Given the description of an element on the screen output the (x, y) to click on. 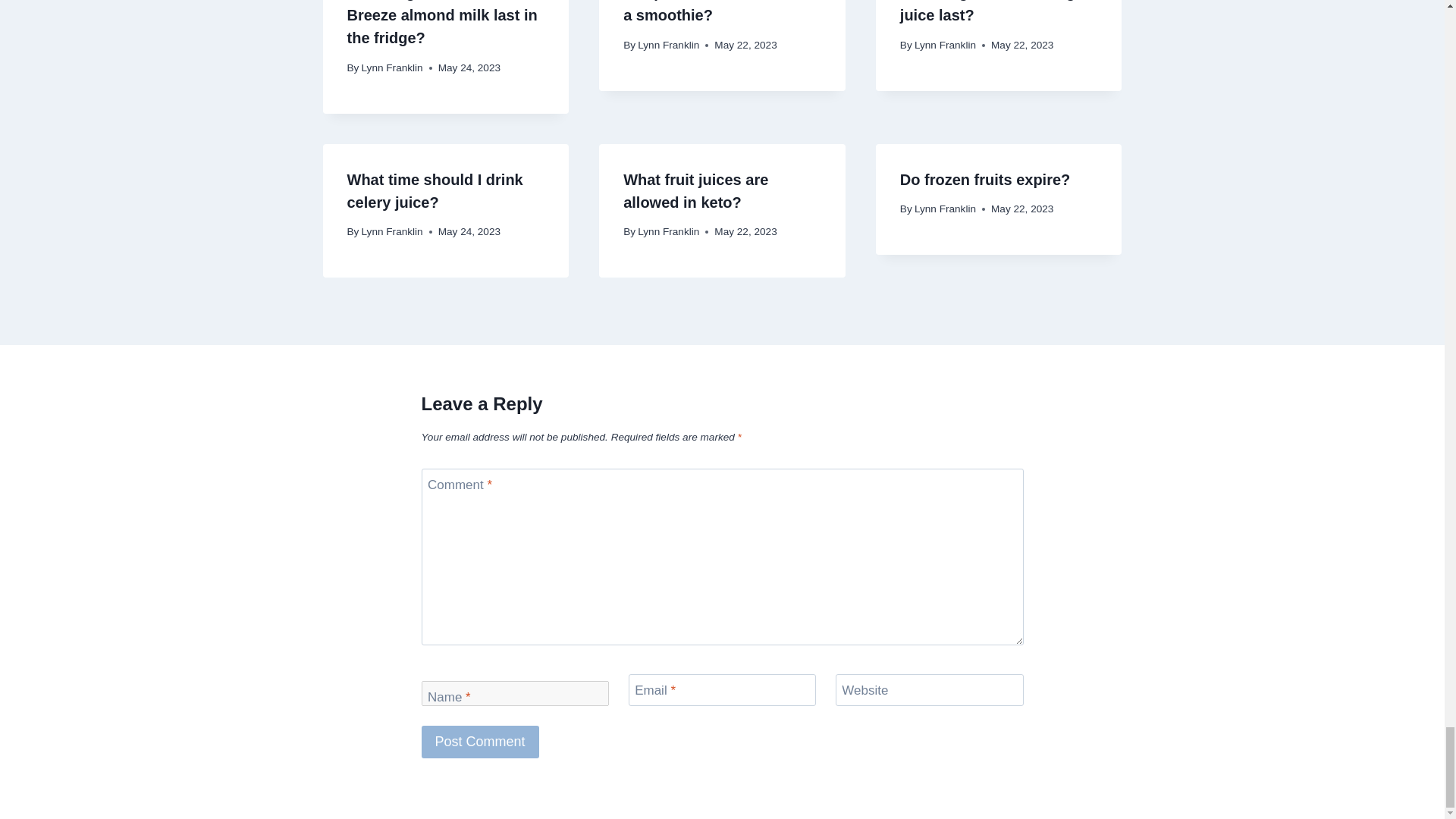
How long can raw orange juice last? (991, 11)
Lynn Franklin (392, 67)
How long does Almond Breeze almond milk last in the fridge? (442, 22)
Lynn Franklin (667, 44)
Post Comment (480, 741)
Is it possible to Overblend a smoothie? (717, 11)
